Given the description of an element on the screen output the (x, y) to click on. 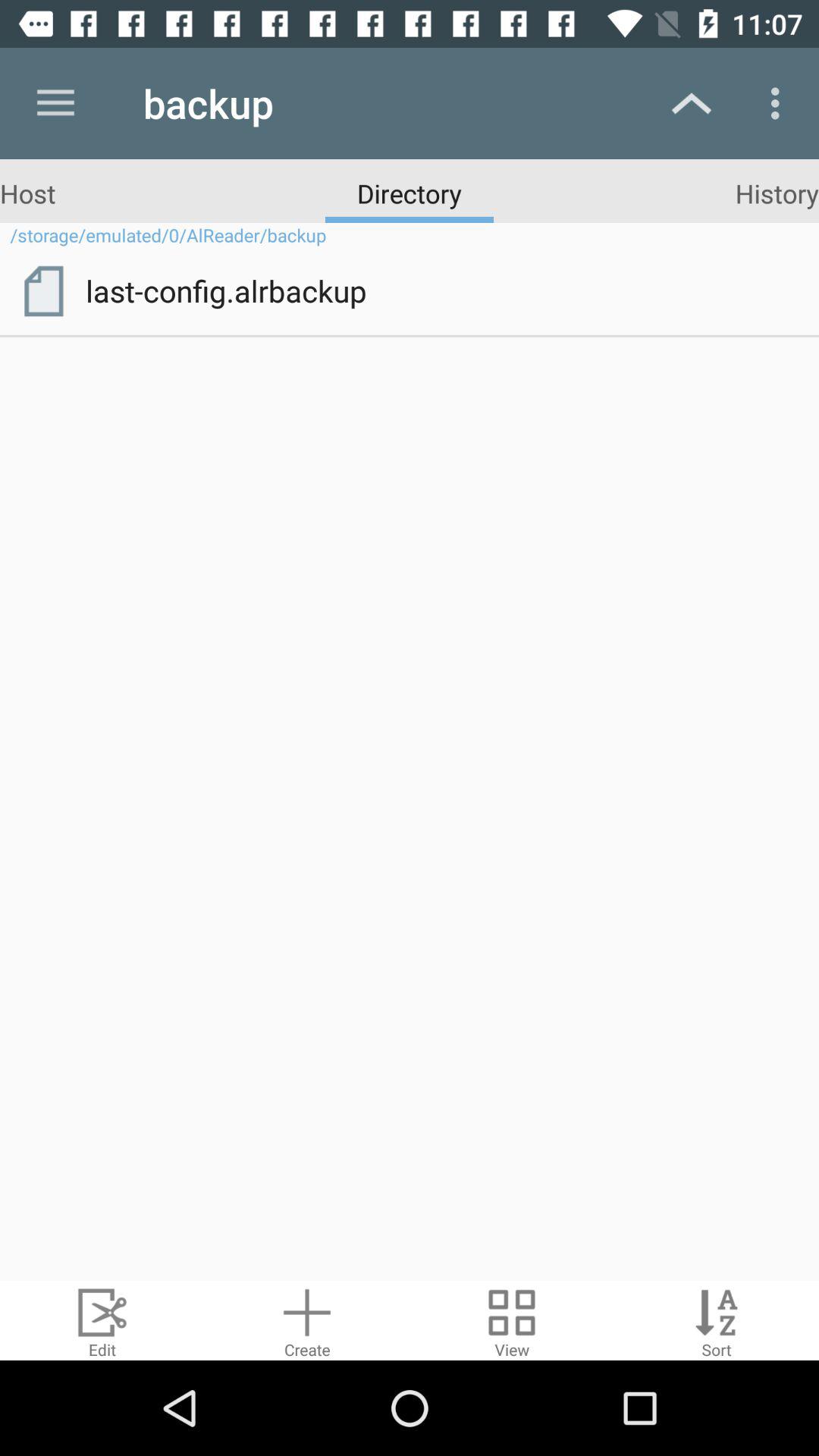
edit option (102, 1320)
